Given the description of an element on the screen output the (x, y) to click on. 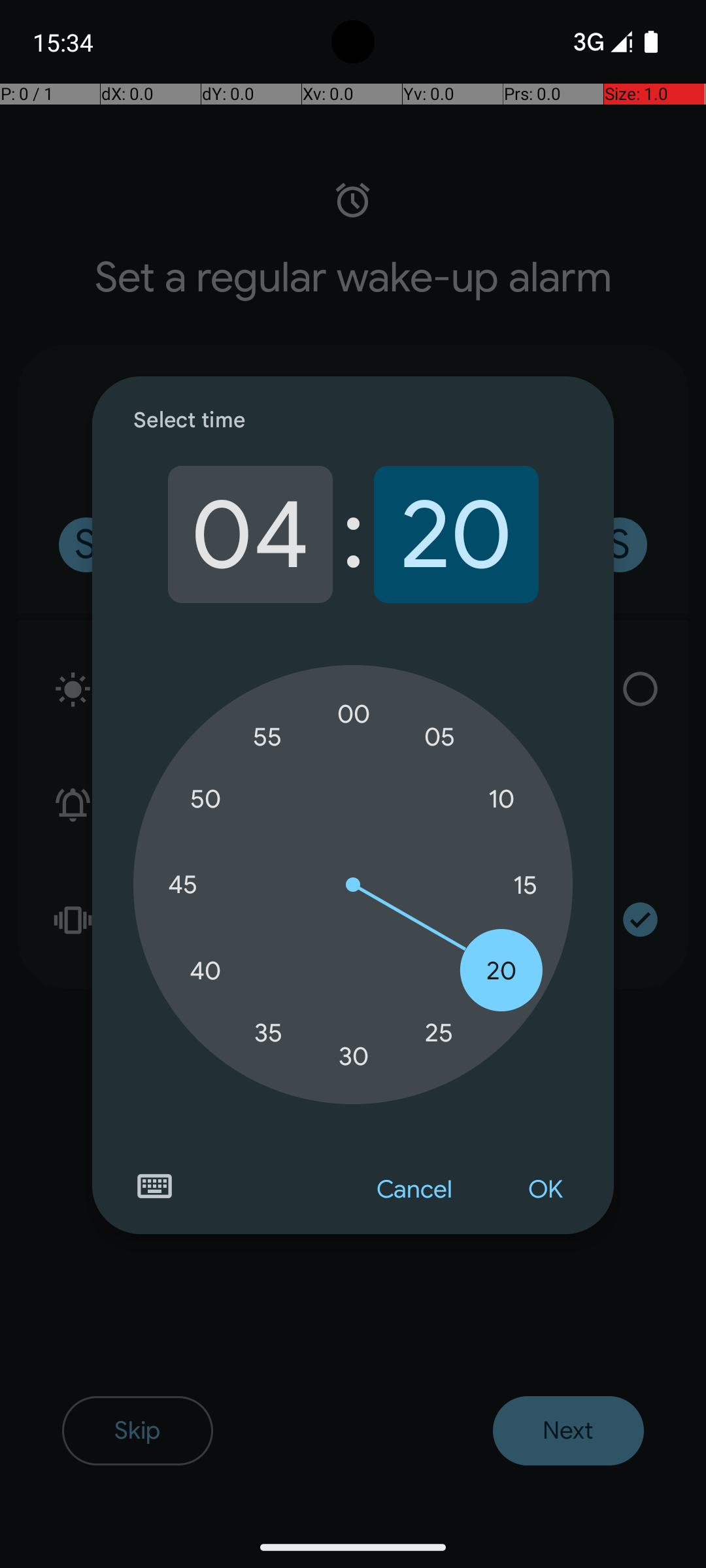
04 Element type: android.view.View (250, 534)
Switch to text input mode for the time input. Element type: android.widget.Button (154, 1186)
Cancel Element type: android.widget.Button (414, 1189)
55 Element type: android.widget.TextView (267, 736)
50 Element type: android.widget.TextView (205, 798)
05 Element type: android.widget.TextView (439, 736)
45 Element type: android.widget.TextView (182, 884)
40 Element type: android.widget.TextView (205, 970)
35 Element type: android.widget.TextView (267, 1032)
30 Element type: android.widget.TextView (353, 1056)
25 Element type: android.widget.TextView (438, 1032)
